Given the description of an element on the screen output the (x, y) to click on. 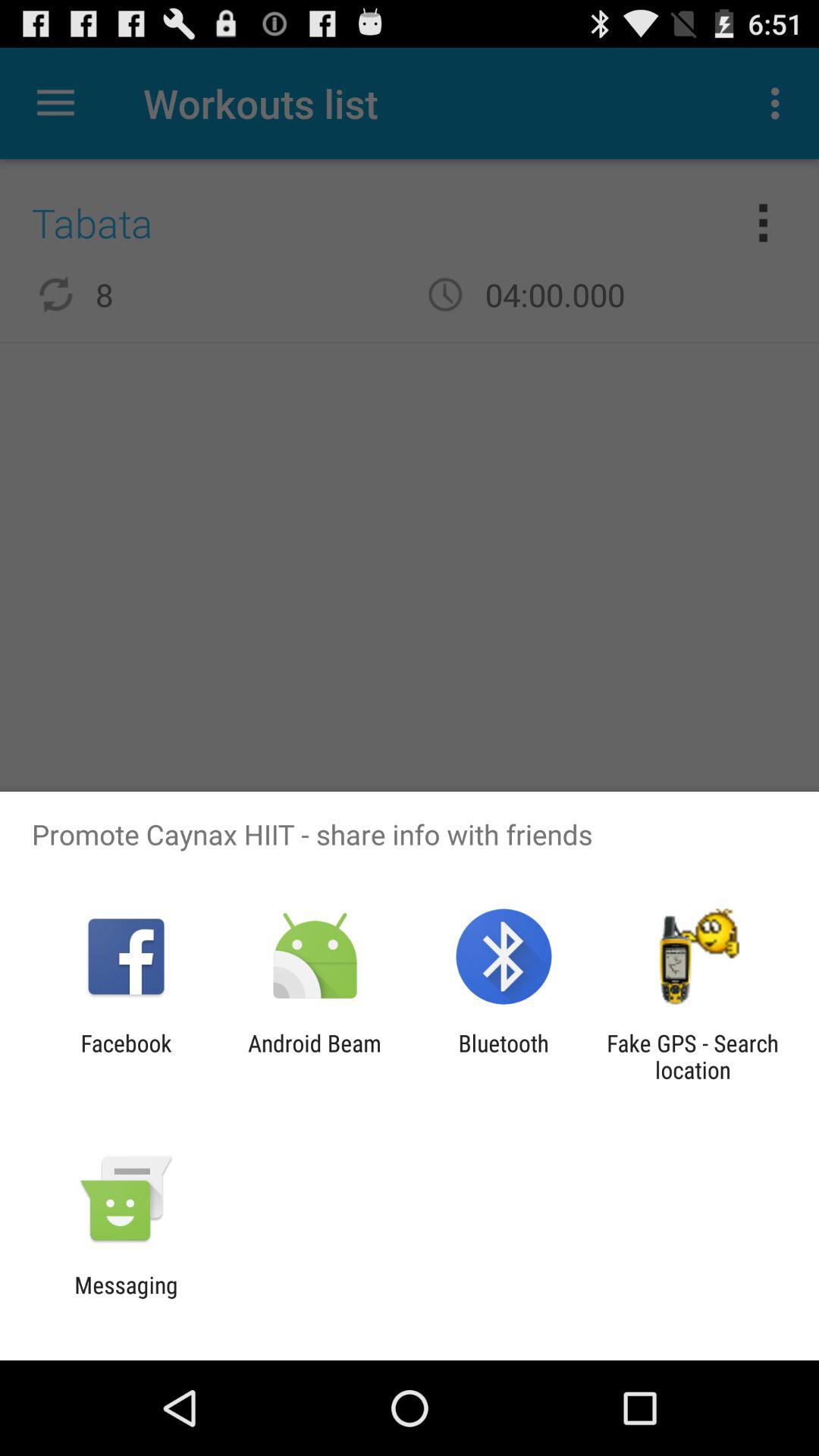
tap icon next to the bluetooth app (314, 1056)
